Given the description of an element on the screen output the (x, y) to click on. 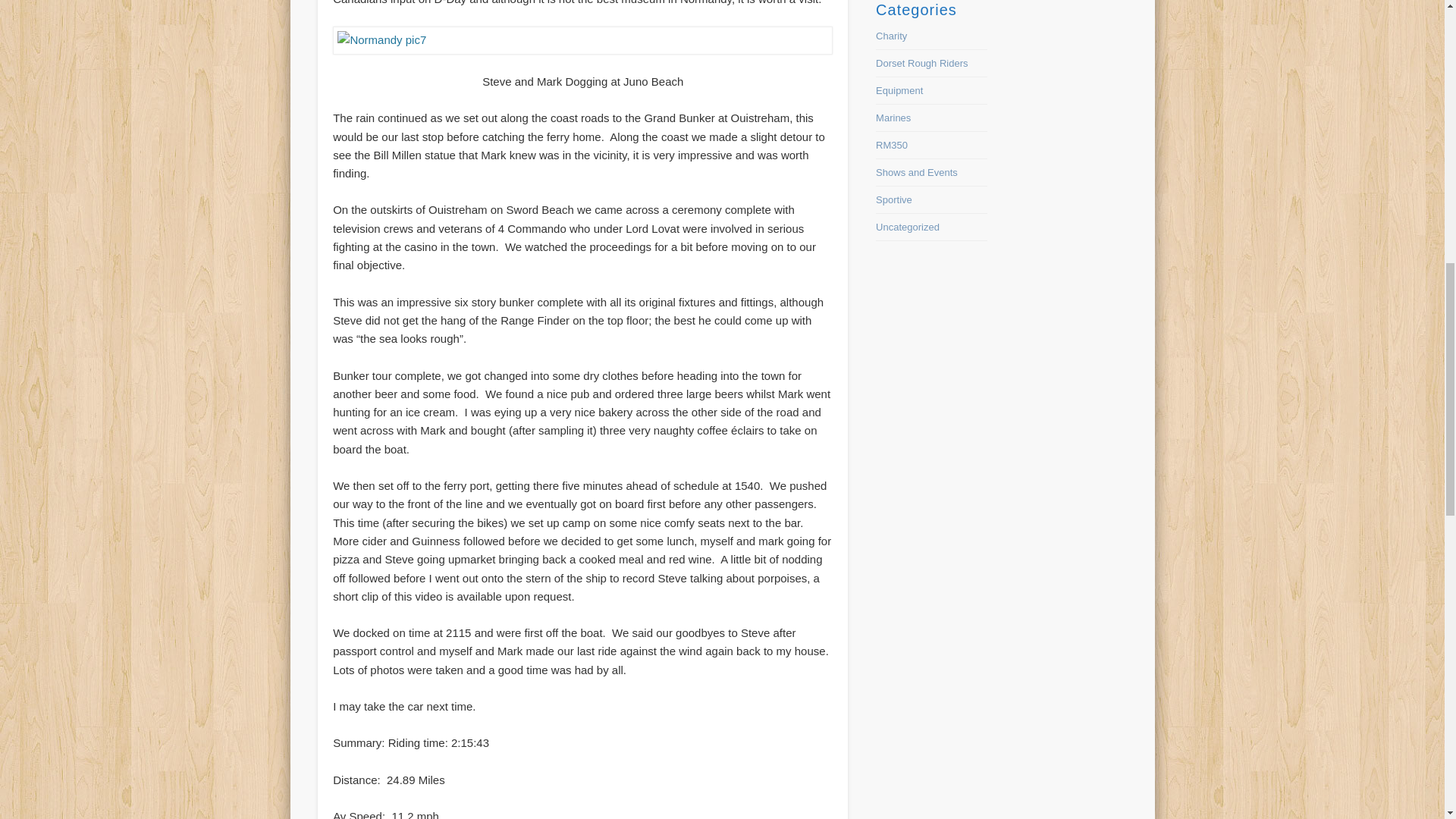
Equipment (899, 90)
RM350 (891, 144)
Shows and Events (917, 172)
Dorset Rough Riders (922, 62)
Sportive (894, 199)
Charity (891, 35)
Uncategorized (907, 226)
Marines (893, 117)
